Given the description of an element on the screen output the (x, y) to click on. 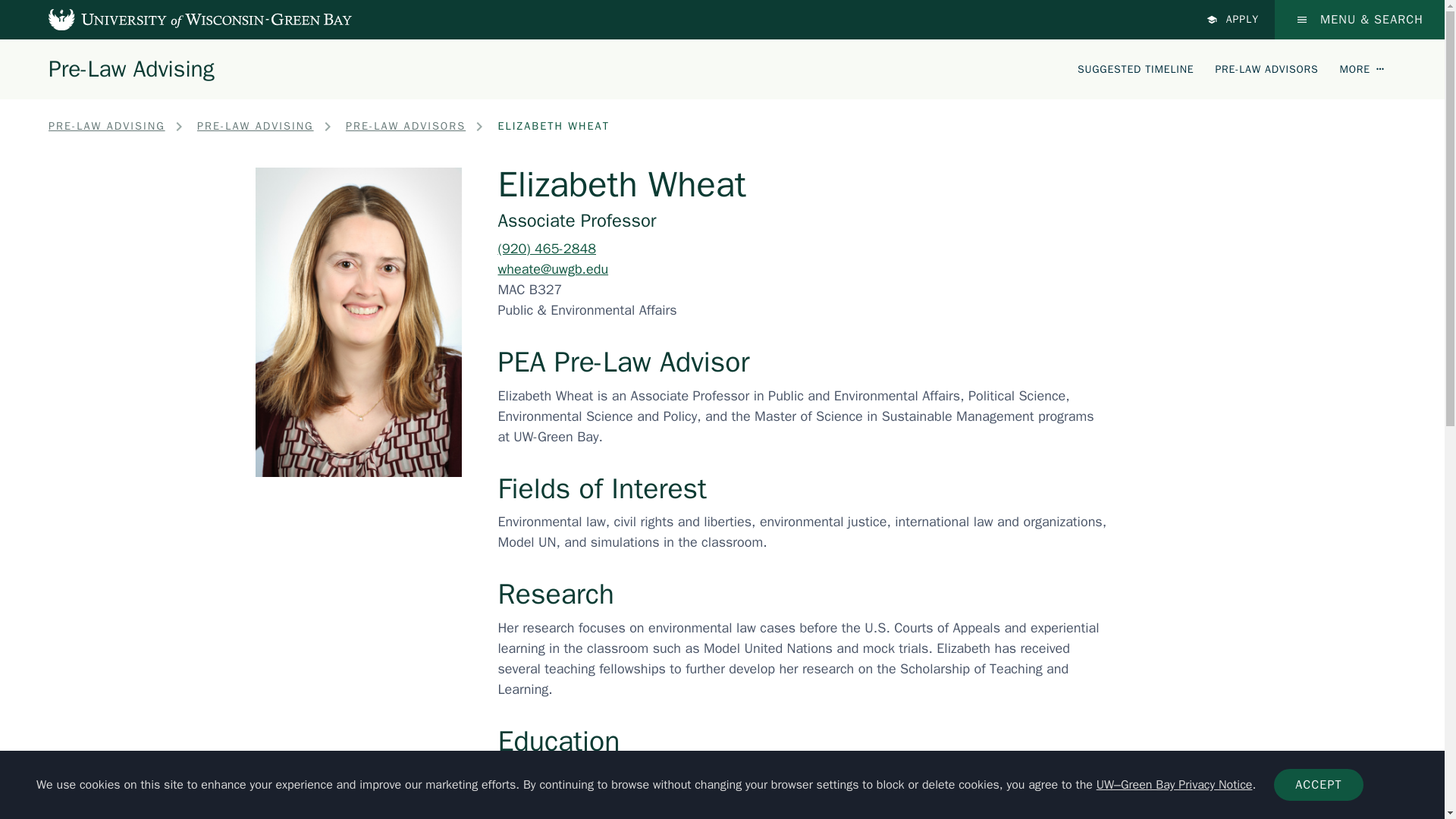
Pre-Law Advising (131, 68)
MORE (1362, 68)
PRE-LAW ADVISORS (1265, 68)
SUGGESTED TIMELINE (1135, 68)
Accept (1318, 784)
APPLY (1233, 19)
